Given the description of an element on the screen output the (x, y) to click on. 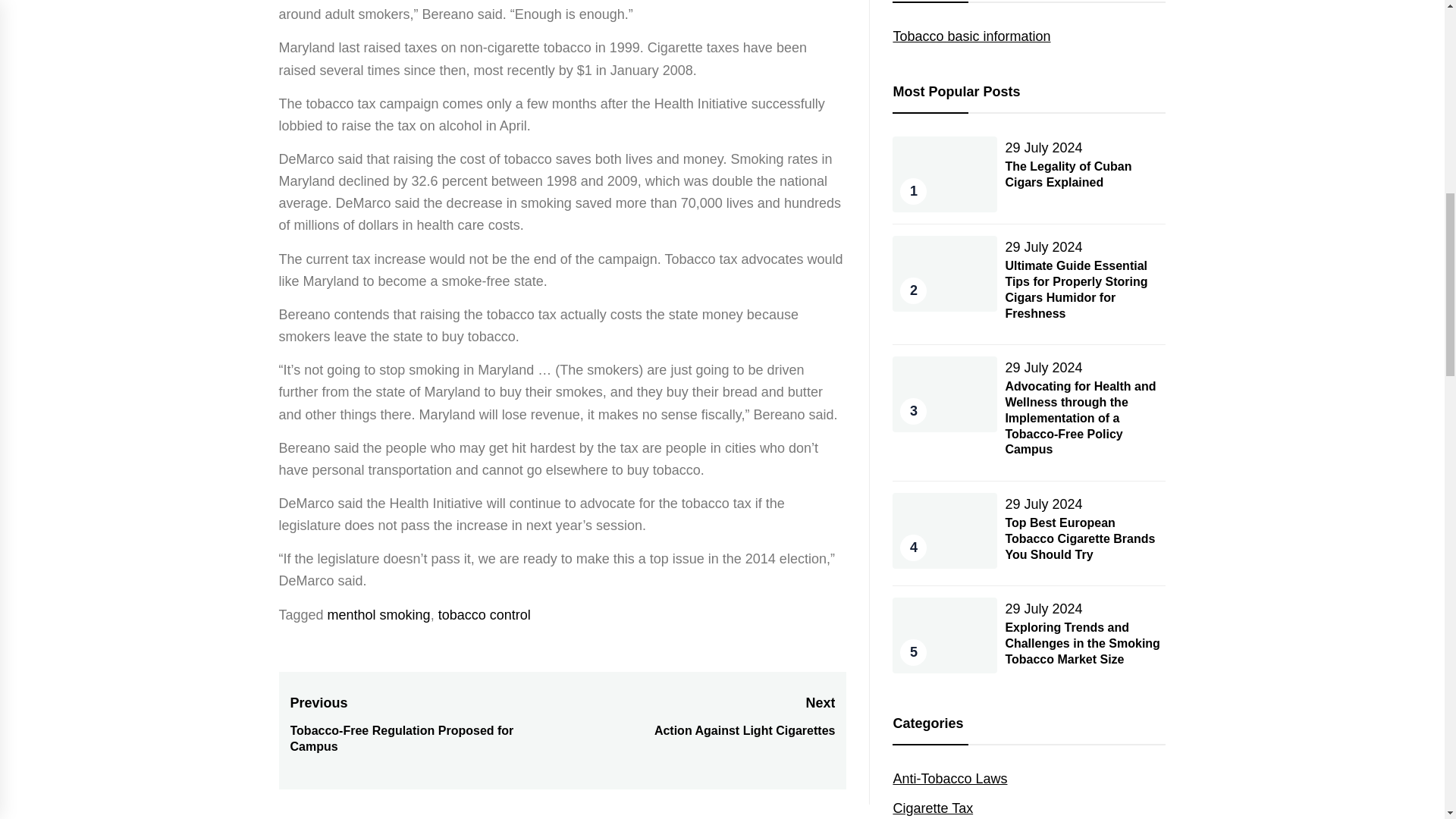
tobacco control (698, 716)
29 July 2024 (484, 614)
The Legality of Cuban Cigars Explained (1042, 246)
menthol smoking (1067, 174)
29 July 2024 (378, 614)
29 July 2024 (1042, 367)
Tobacco basic information (1042, 147)
